Given the description of an element on the screen output the (x, y) to click on. 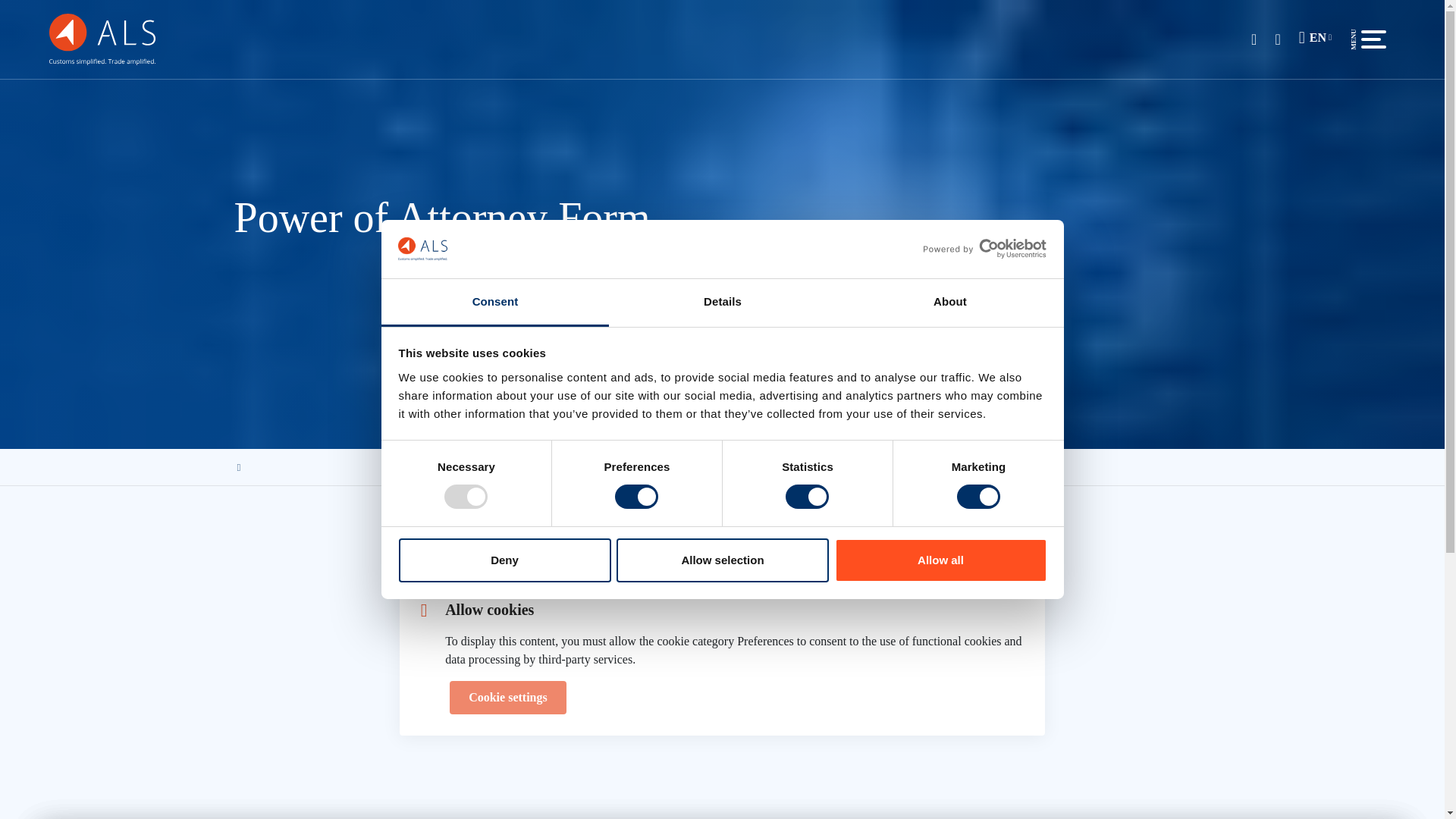
About (948, 302)
ALS CS (102, 38)
Consent (494, 302)
Details (721, 302)
